Given the description of an element on the screen output the (x, y) to click on. 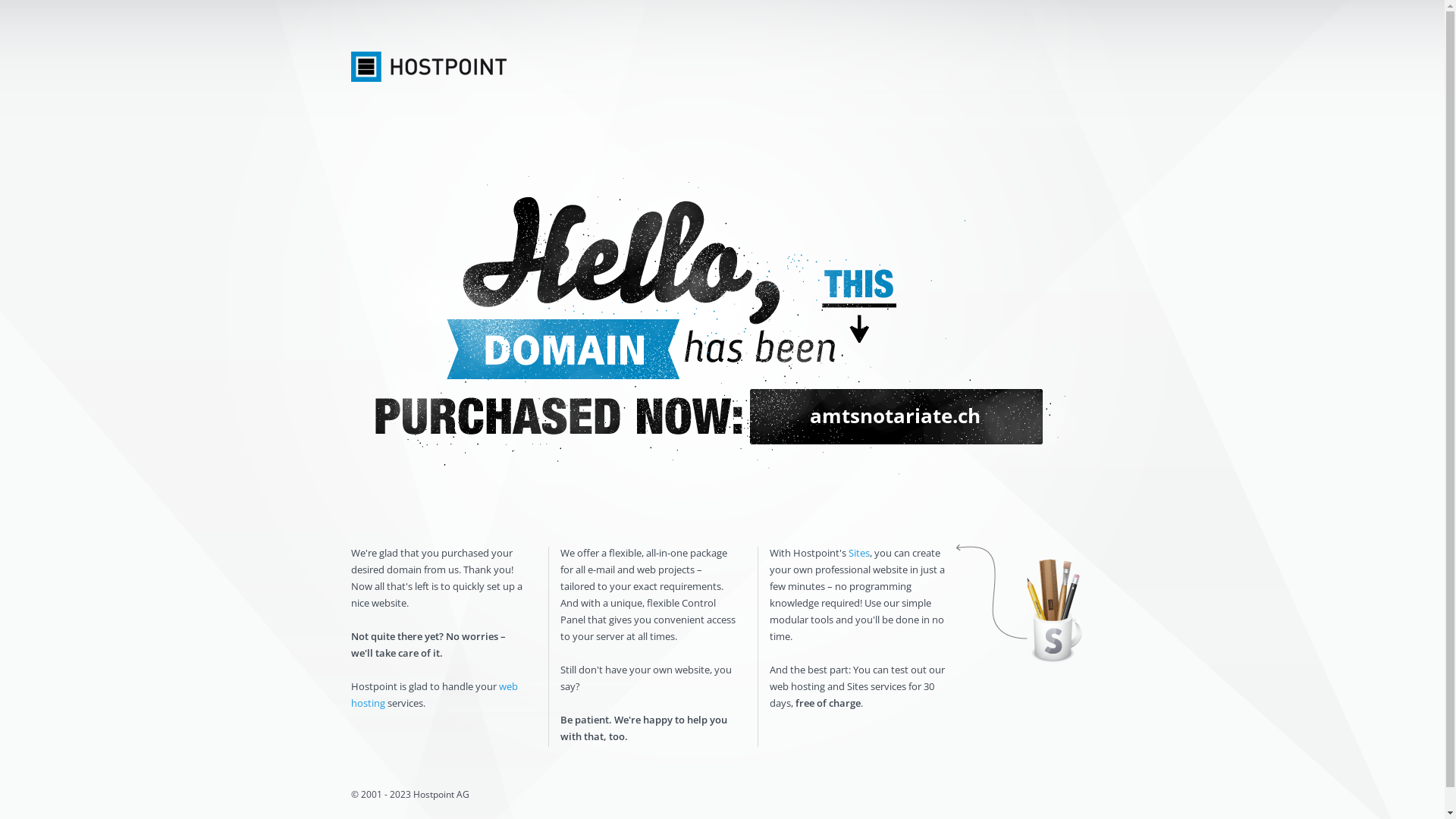
web hosting Element type: text (433, 694)
Sites Element type: text (858, 552)
